Given the description of an element on the screen output the (x, y) to click on. 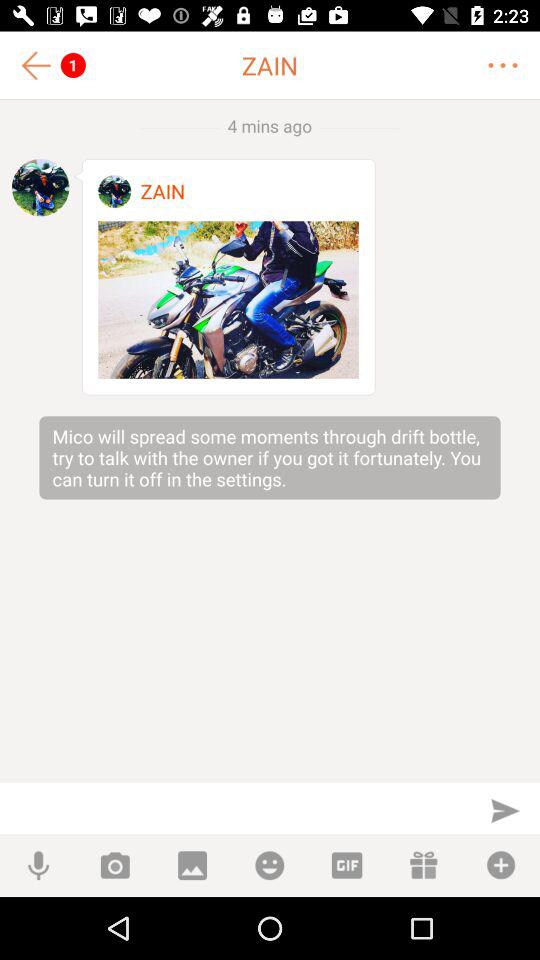
take a photo to send (114, 865)
